Given the description of an element on the screen output the (x, y) to click on. 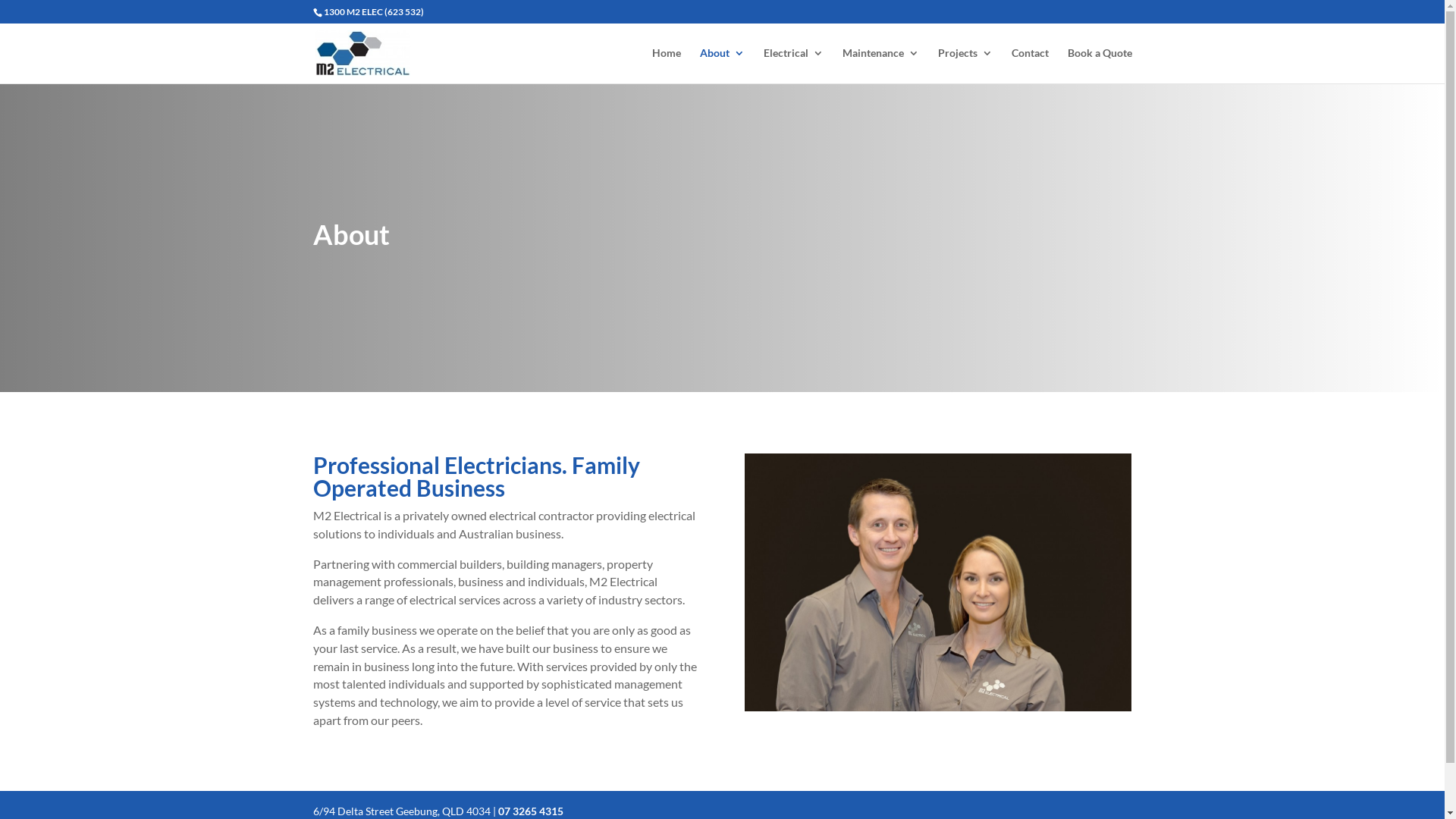
Electrical Element type: text (792, 65)
Book a Quote Element type: text (1099, 65)
Projects Element type: text (964, 65)
Maintenance Element type: text (879, 65)
Contact Element type: text (1029, 65)
Home Element type: text (666, 65)
07 3265 4315 Element type: text (529, 810)
About Element type: text (721, 65)
